Given the description of an element on the screen output the (x, y) to click on. 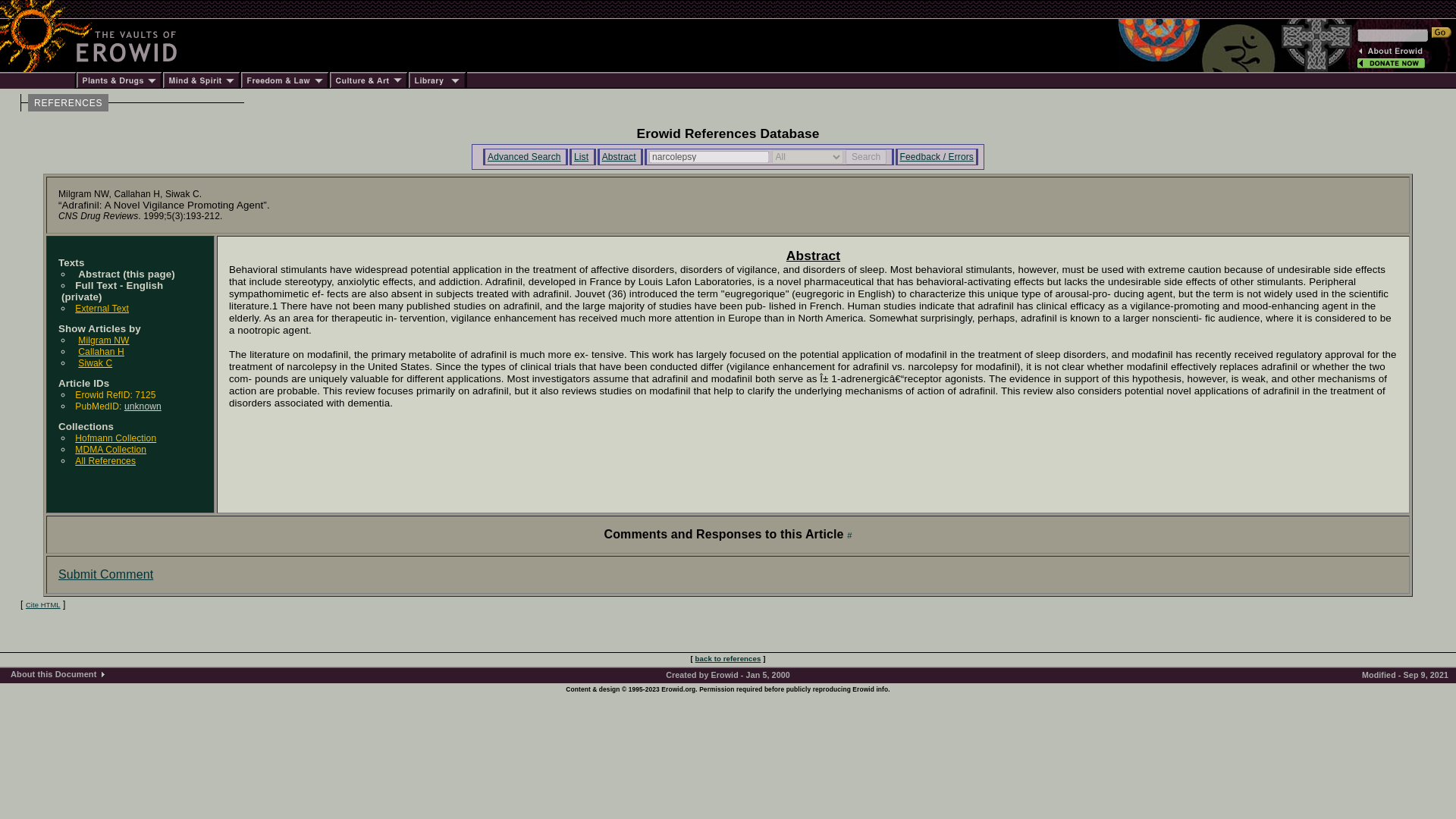
narcolepsy (708, 156)
narcolepsy (708, 156)
Search (865, 156)
Search (865, 156)
